Given the description of an element on the screen output the (x, y) to click on. 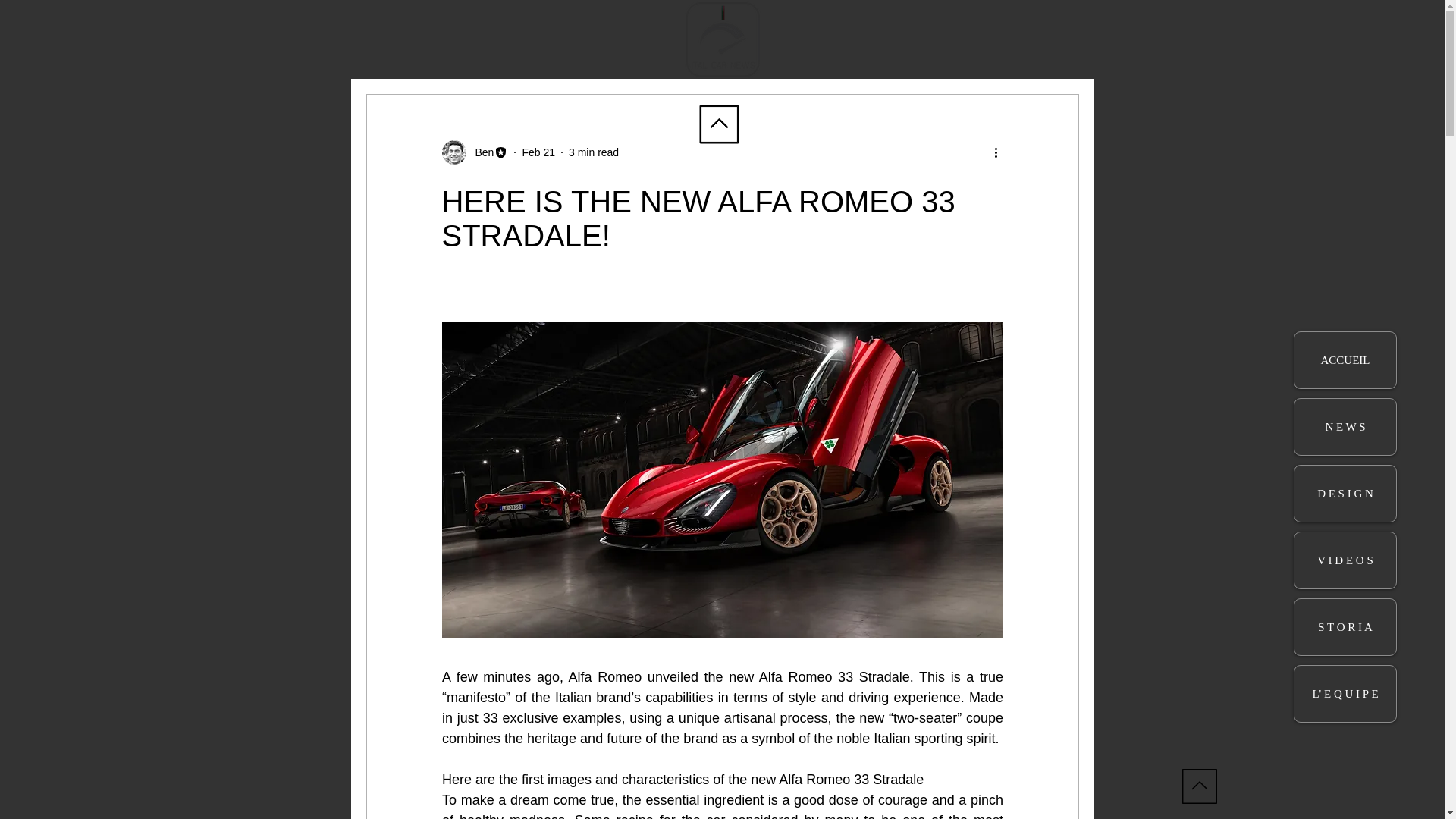
V I D E O S (1345, 560)
S T O R I A (1345, 626)
ACCUEIL (1345, 360)
L' E Q U I P E (1345, 693)
N E W S (1345, 426)
Feb 21 (537, 151)
Ben (479, 151)
3 min read (593, 151)
D E S I G N (1345, 493)
